Given the description of an element on the screen output the (x, y) to click on. 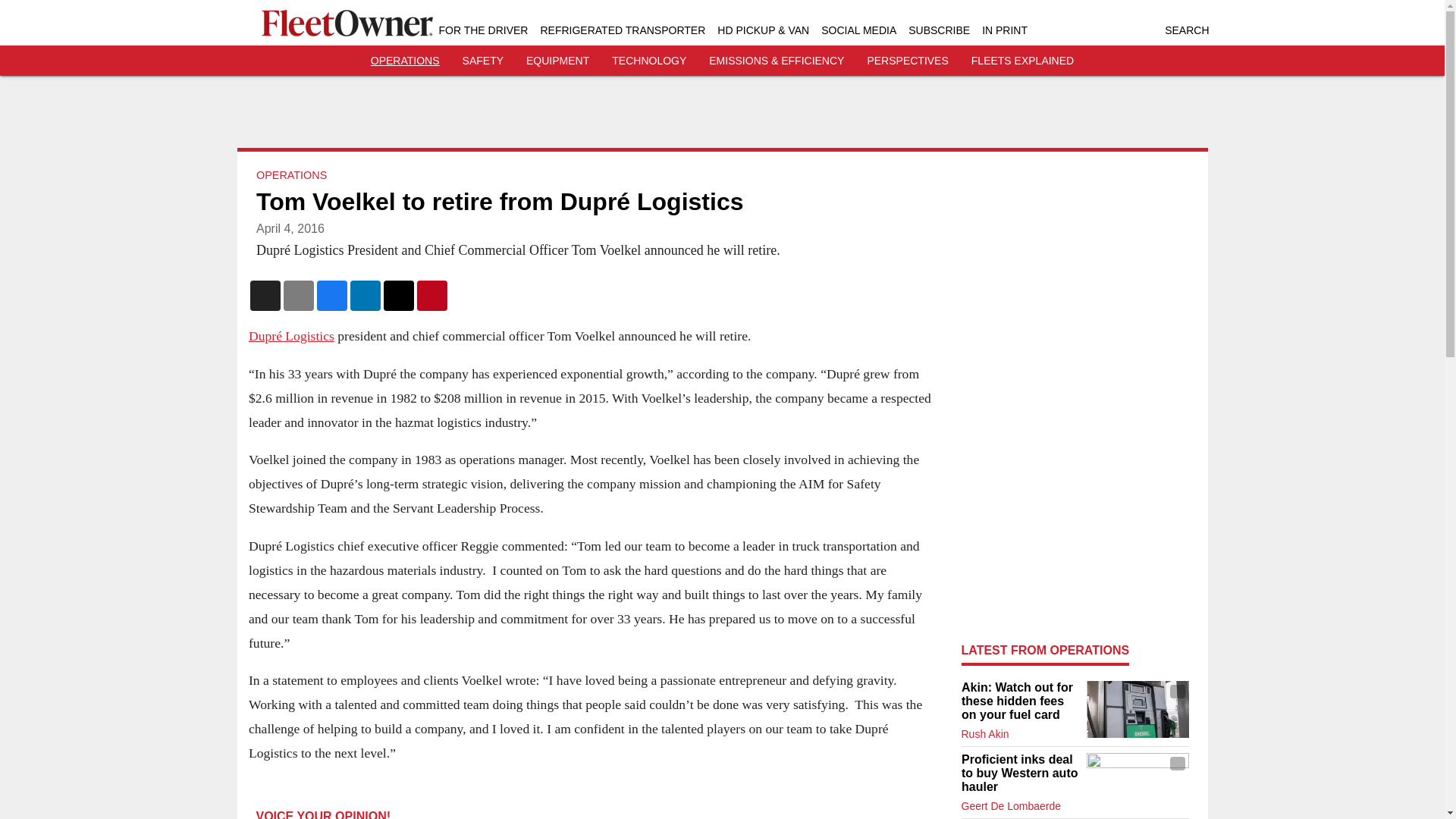
EQUIPMENT (557, 60)
SAFETY (483, 60)
PERSPECTIVES (906, 60)
Rush Akin (984, 734)
SEARCH (1186, 30)
TECHNOLOGY (648, 60)
OPERATIONS (405, 60)
REFRIGERATED TRANSPORTER (622, 30)
IN PRINT (1004, 30)
FLEETS EXPLAINED (1022, 60)
